Given the description of an element on the screen output the (x, y) to click on. 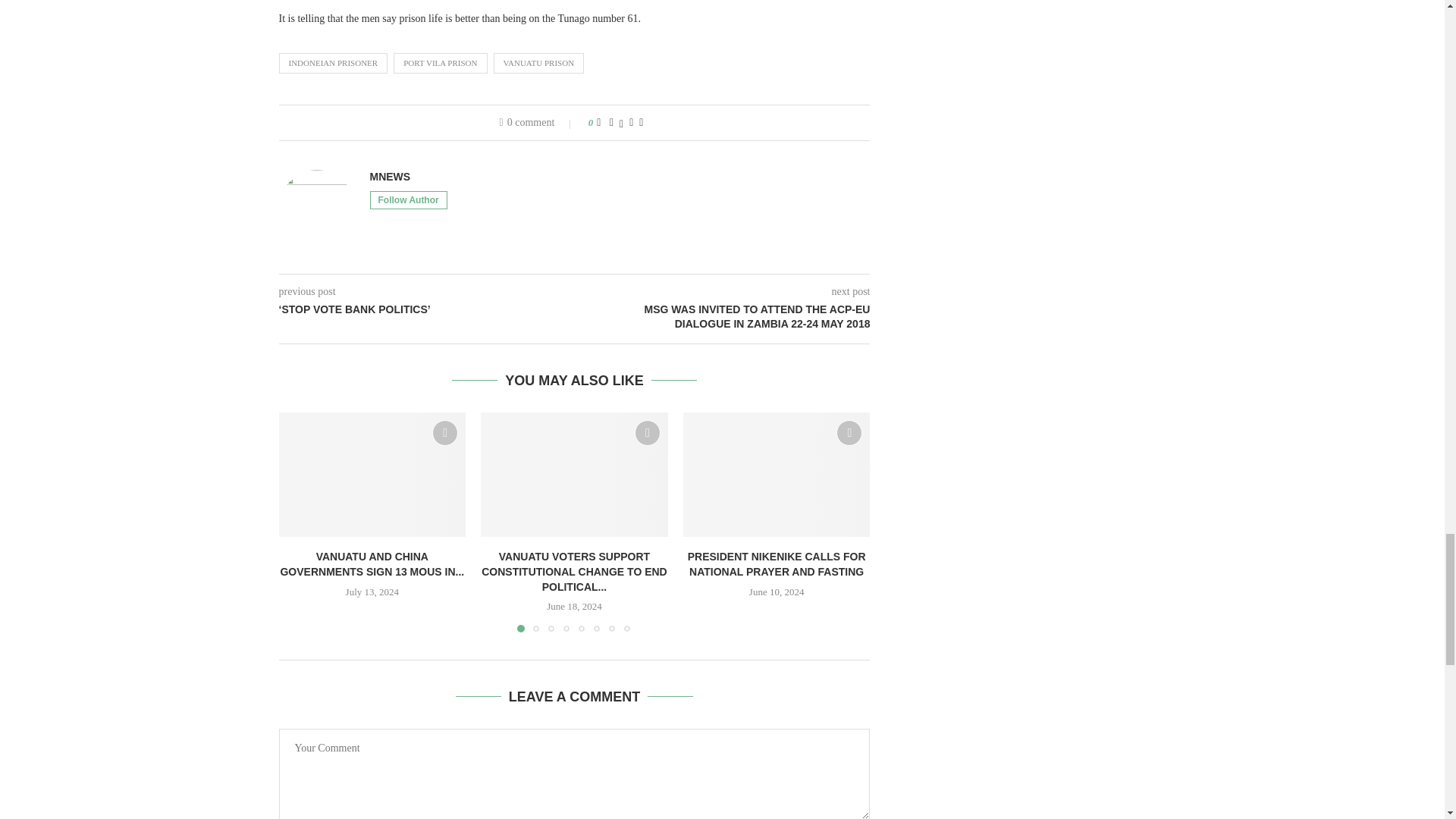
President Nikenike Calls for National Prayer and Fasting (776, 474)
Author mnews (389, 176)
Vanuatu and China Governments Sign 13 MOUs in Beijing (372, 474)
